Given the description of an element on the screen output the (x, y) to click on. 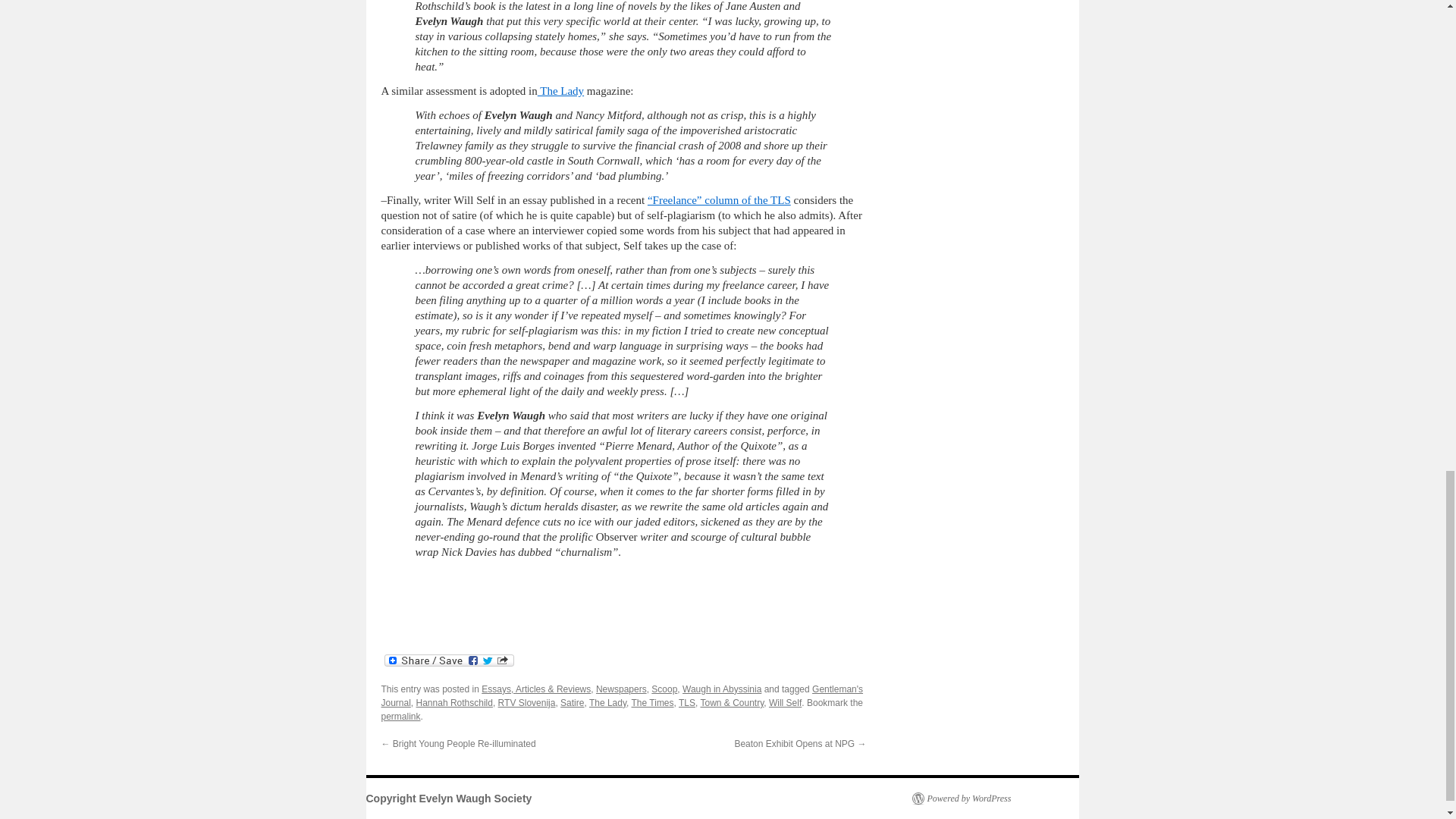
The Lady (607, 702)
Semantic Personal Publishing Platform (960, 798)
Gentleman's Journal (621, 695)
RTV Slovenija (526, 702)
Waugh in Abyssinia (721, 688)
Scoop (663, 688)
The Lady (560, 91)
Satire (571, 702)
Hannah Rothschild (454, 702)
Newspapers (620, 688)
TLS (686, 702)
The Times (652, 702)
Permalink to Roundup: Satire in a Divisive Age (400, 716)
